Given the description of an element on the screen output the (x, y) to click on. 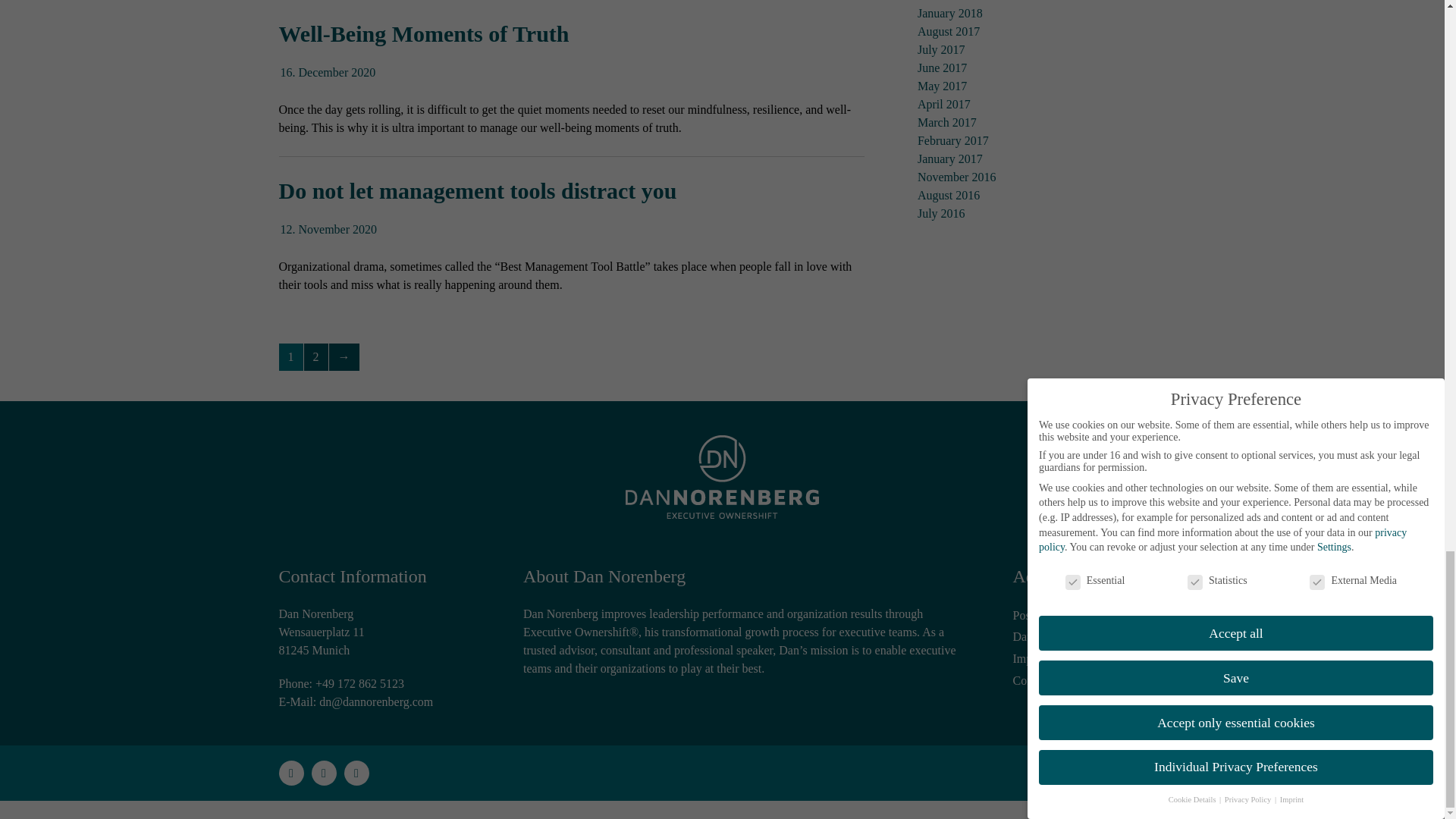
16. December 2020 (328, 72)
12. November 2020 (329, 228)
Well-Being Moments of Truth (424, 33)
Do not let management tools distract you (478, 190)
2 (314, 357)
